Given the description of an element on the screen output the (x, y) to click on. 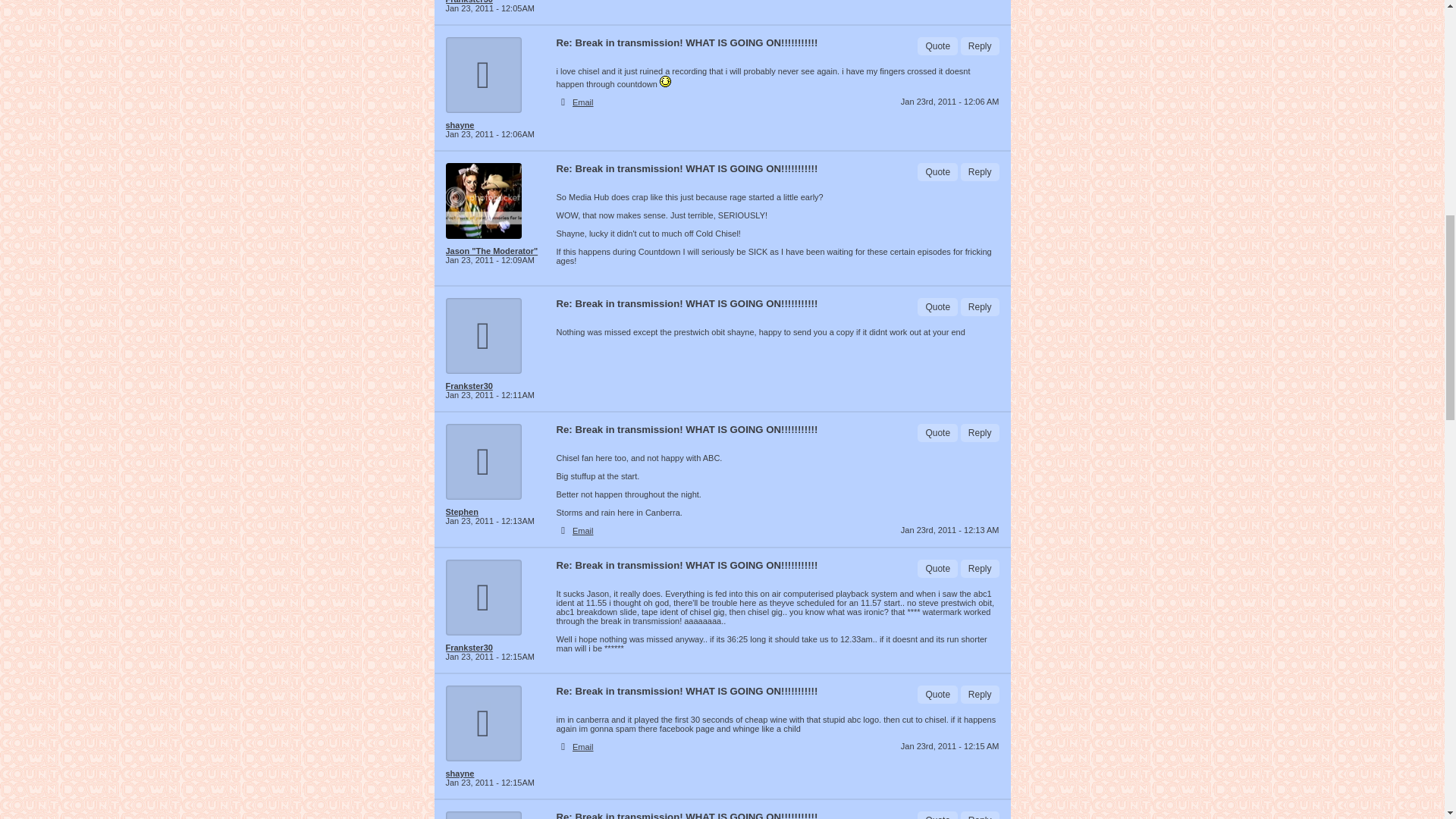
Reply (979, 568)
Messages from this User (469, 646)
Quote (937, 171)
Quote (937, 307)
Stephen (494, 511)
Messages from this User (491, 250)
Reply (979, 307)
Messages from this User (469, 385)
Quote (937, 433)
shayne (494, 124)
Messages from this User (462, 511)
Messages from this User (459, 124)
Messages from this User (469, 2)
Quote (937, 568)
Frankster30 (494, 385)
